Given the description of an element on the screen output the (x, y) to click on. 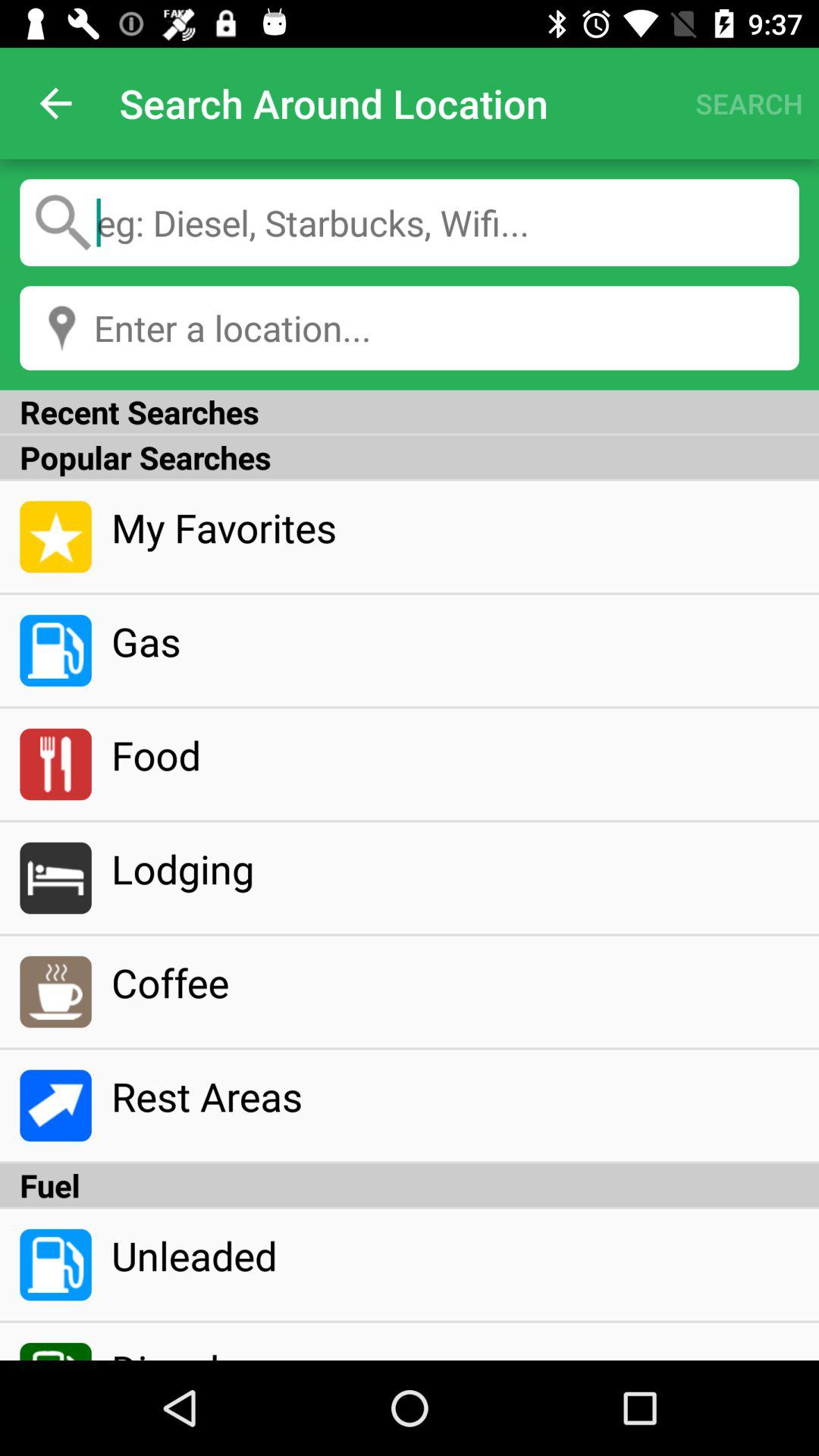
click item below coffee (455, 1095)
